Given the description of an element on the screen output the (x, y) to click on. 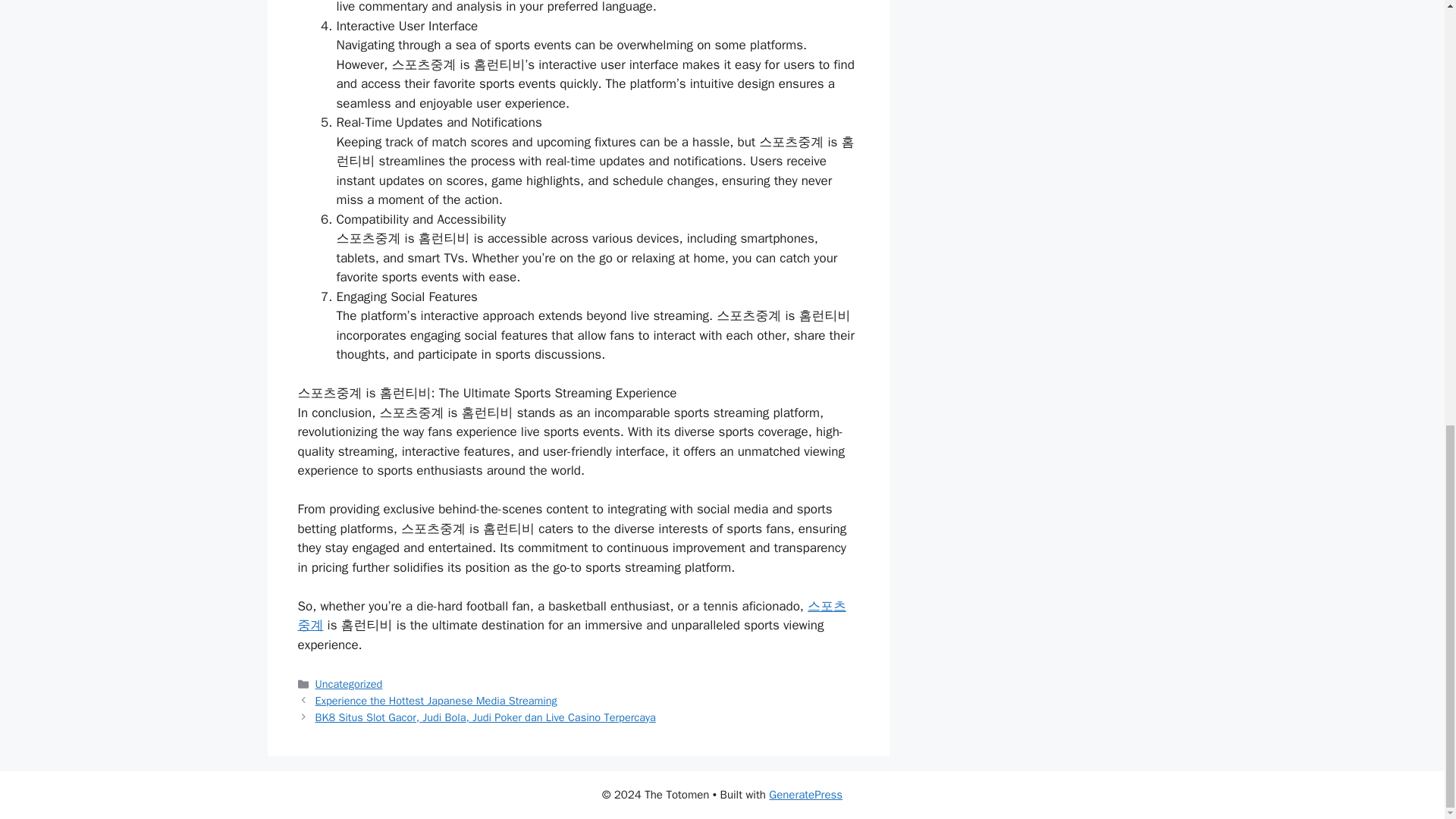
Uncategorized (348, 684)
Experience the Hottest Japanese Media Streaming (436, 700)
GeneratePress (805, 794)
